Given the description of an element on the screen output the (x, y) to click on. 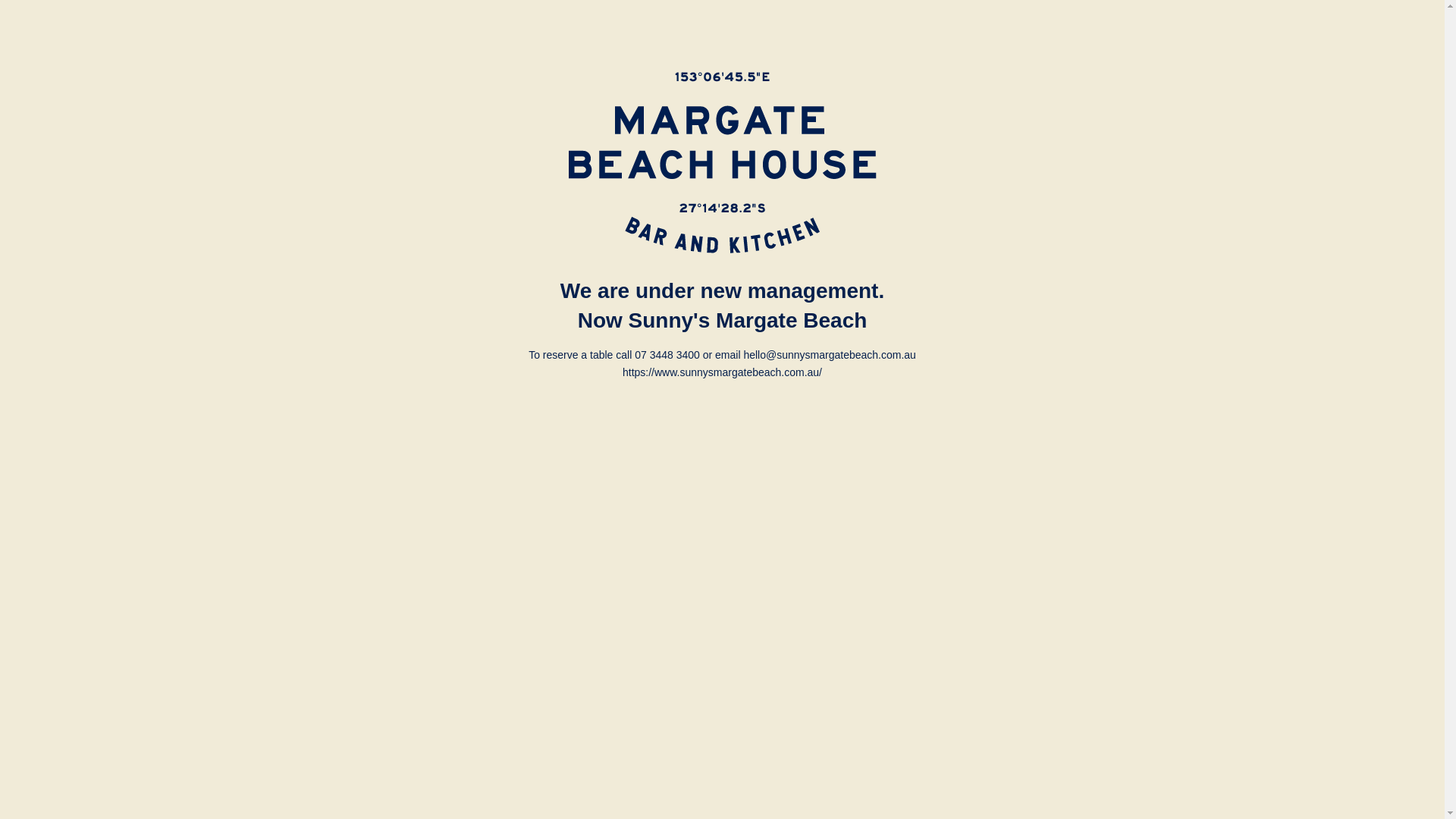
Margate Beach House Element type: hover (722, 162)
